Given the description of an element on the screen output the (x, y) to click on. 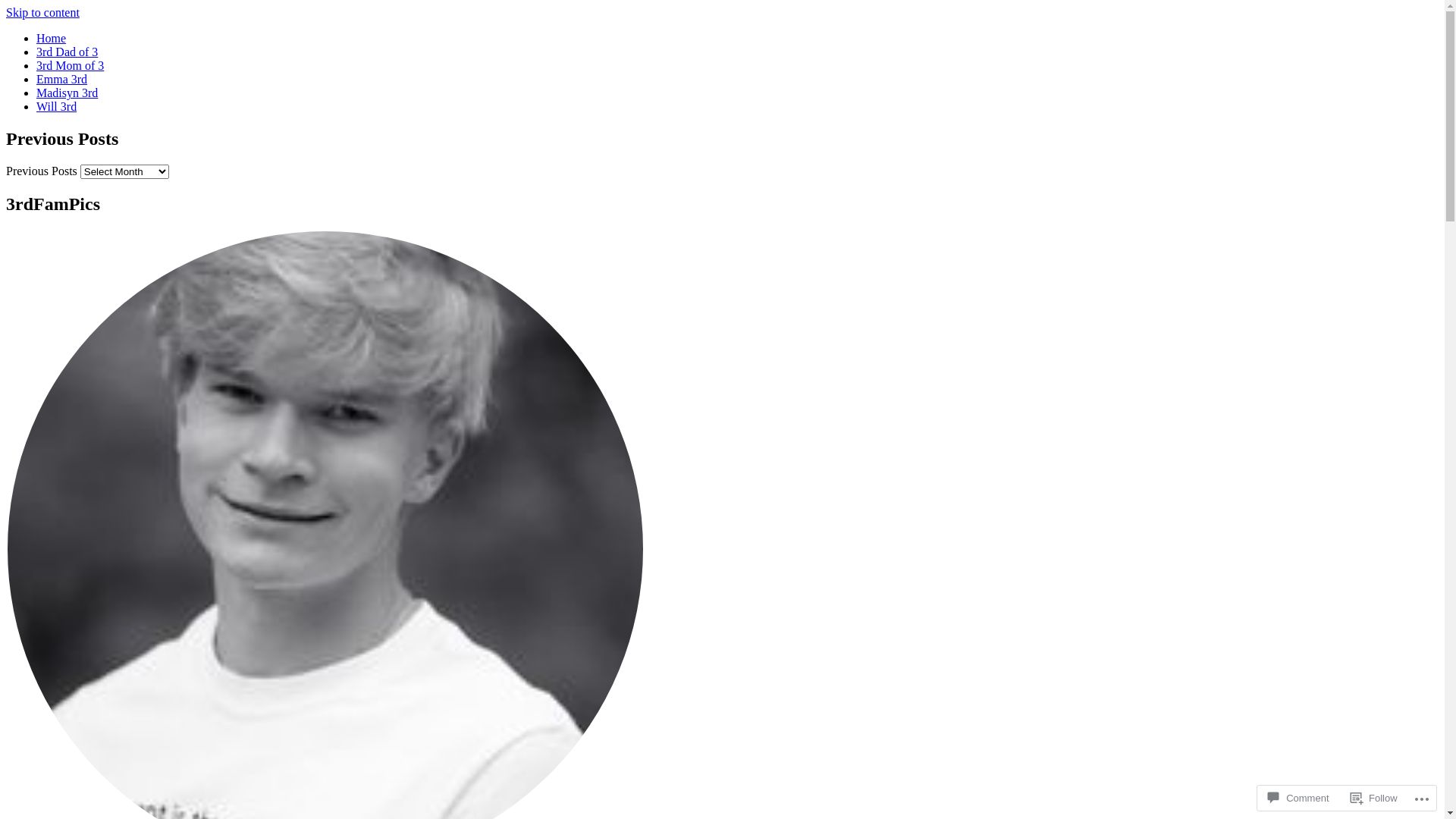
Emma 3rd Element type: text (61, 78)
Home Element type: text (50, 37)
Madisyn 3rd Element type: text (66, 92)
Will 3rd Element type: text (56, 106)
Follow Element type: text (1373, 797)
Comment Element type: text (1297, 797)
Skip to content Element type: text (42, 12)
3rd Dad of 3 Element type: text (66, 51)
3rd Mom of 3 Element type: text (69, 65)
